Given the description of an element on the screen output the (x, y) to click on. 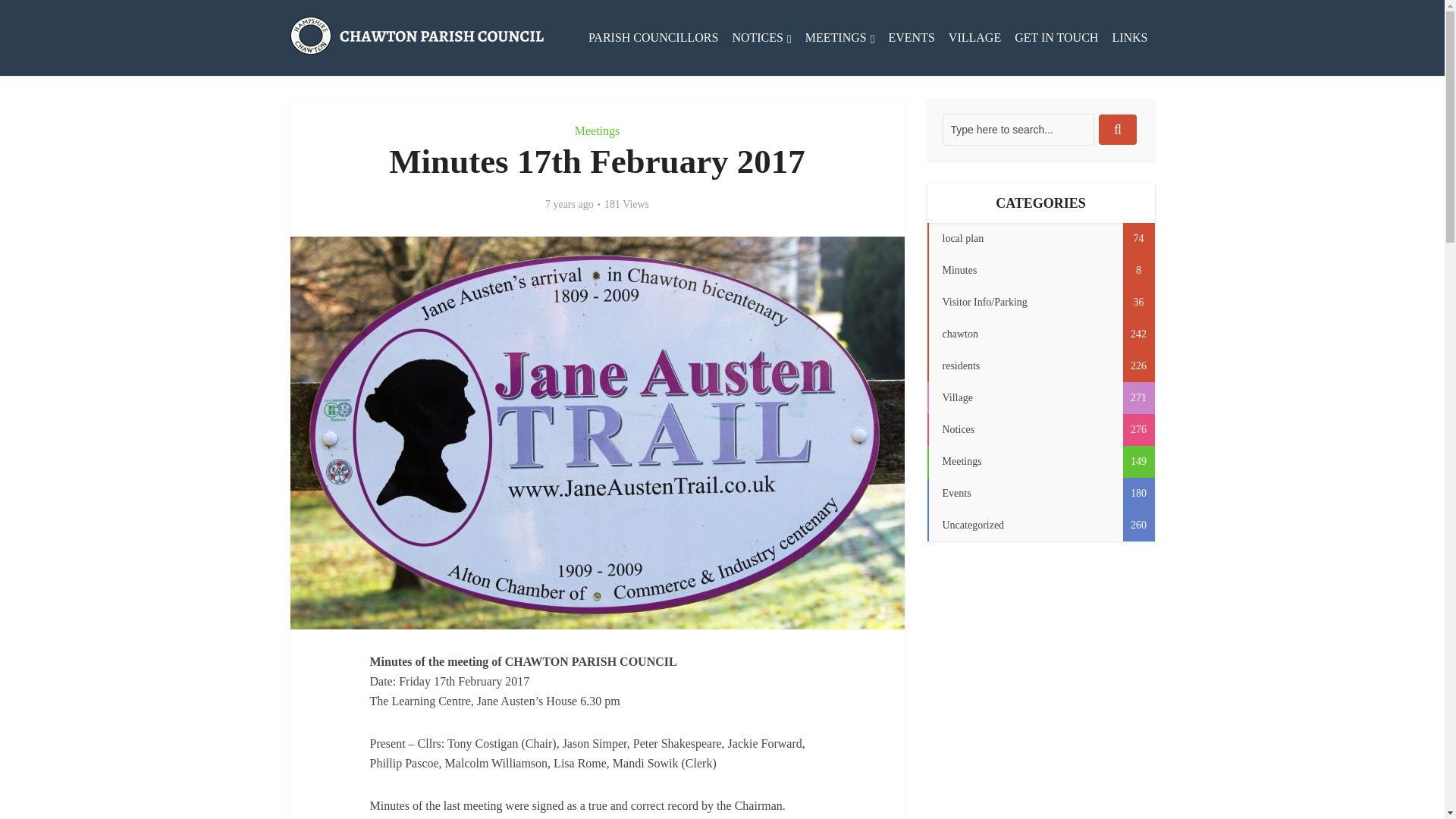
NOTICES (761, 38)
Type here to search... (1017, 129)
MEETINGS (839, 38)
Meetings (597, 130)
PARISH COUNCILLORS (652, 38)
Type here to search... (1017, 129)
Chawton Parish Council (416, 33)
GET IN TOUCH (1056, 38)
